Given the description of an element on the screen output the (x, y) to click on. 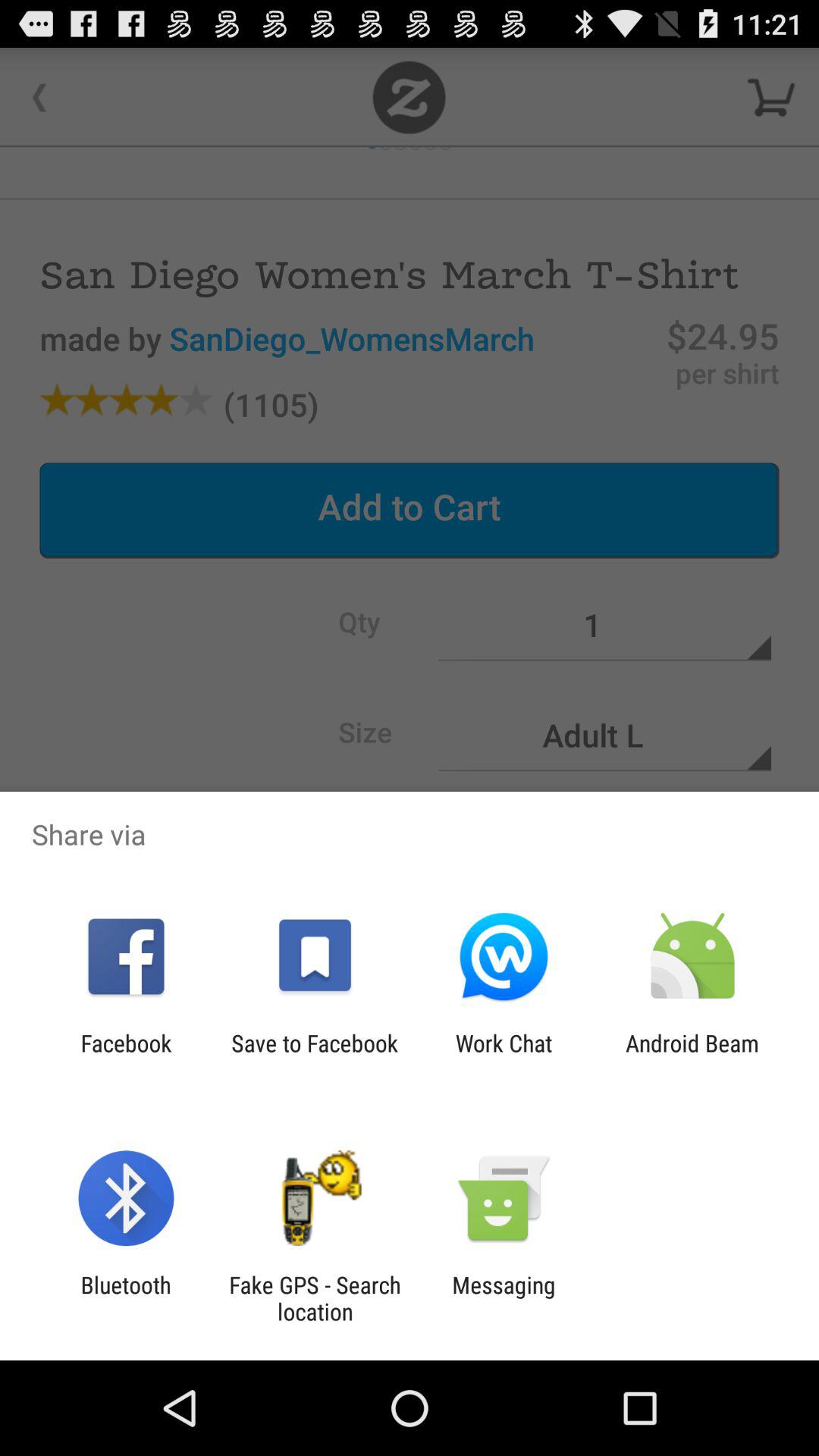
open item next to the work chat item (692, 1056)
